Given the description of an element on the screen output the (x, y) to click on. 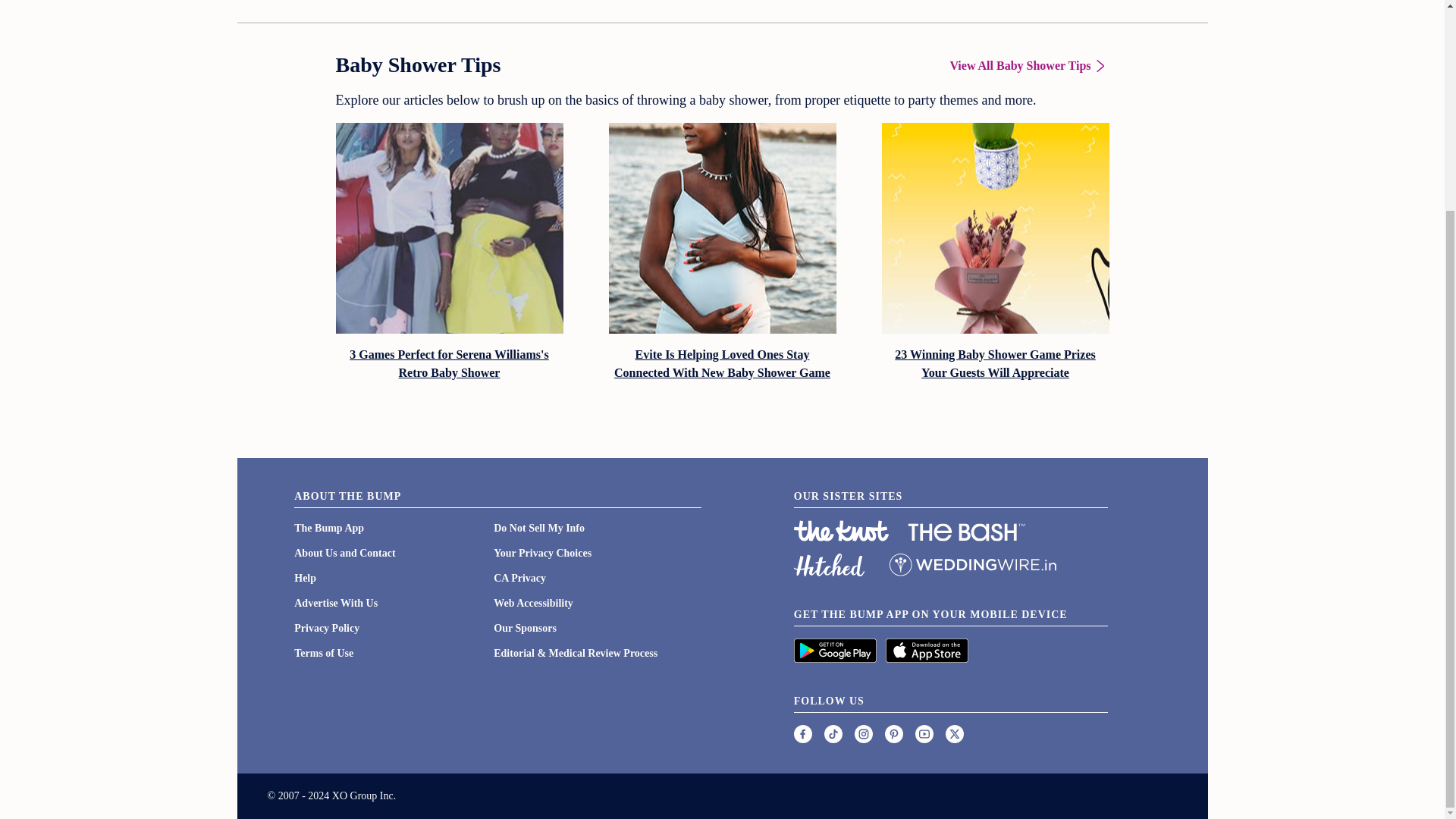
Terms of Use (323, 653)
Our Sponsors (524, 627)
Your Privacy Choices (542, 552)
View All Baby Shower Tips (1028, 65)
Help (304, 577)
Do Not Sell My Info (539, 527)
Web Accessibility (533, 603)
CA Privacy (519, 577)
The Bump App (329, 527)
Advertise With Us (335, 603)
